Given the description of an element on the screen output the (x, y) to click on. 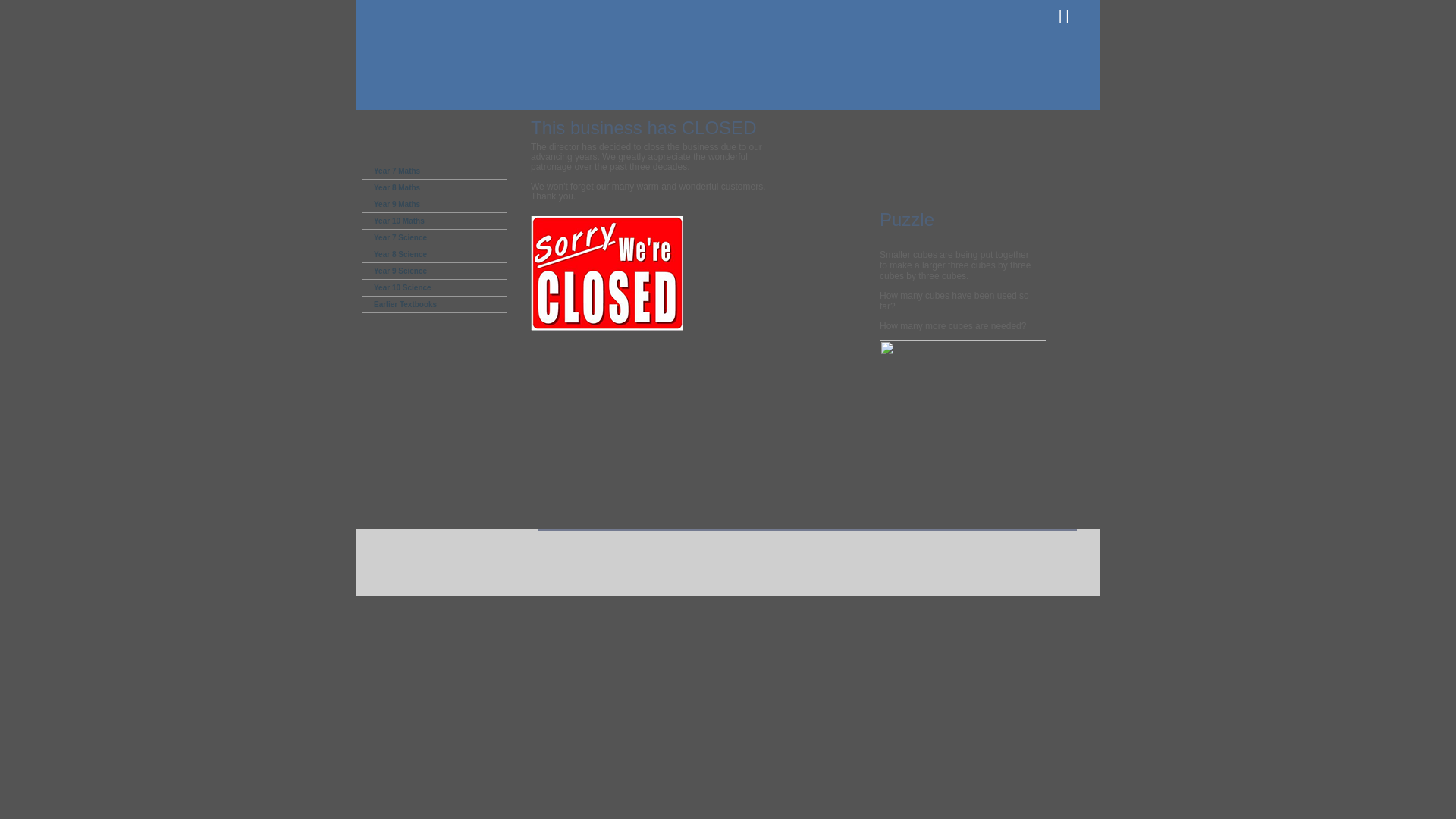
Year 10 Science Element type: text (434, 287)
Year 8 Science Element type: text (434, 254)
Year 7 Science Element type: text (434, 237)
Year 7 Maths Element type: text (434, 171)
Earlier Textbooks Element type: text (434, 304)
Year 9 Science Element type: text (434, 271)
Year 8 Maths Element type: text (434, 187)
Year 9 Maths Element type: text (434, 204)
Year 10 Maths Element type: text (434, 221)
